Given the description of an element on the screen output the (x, y) to click on. 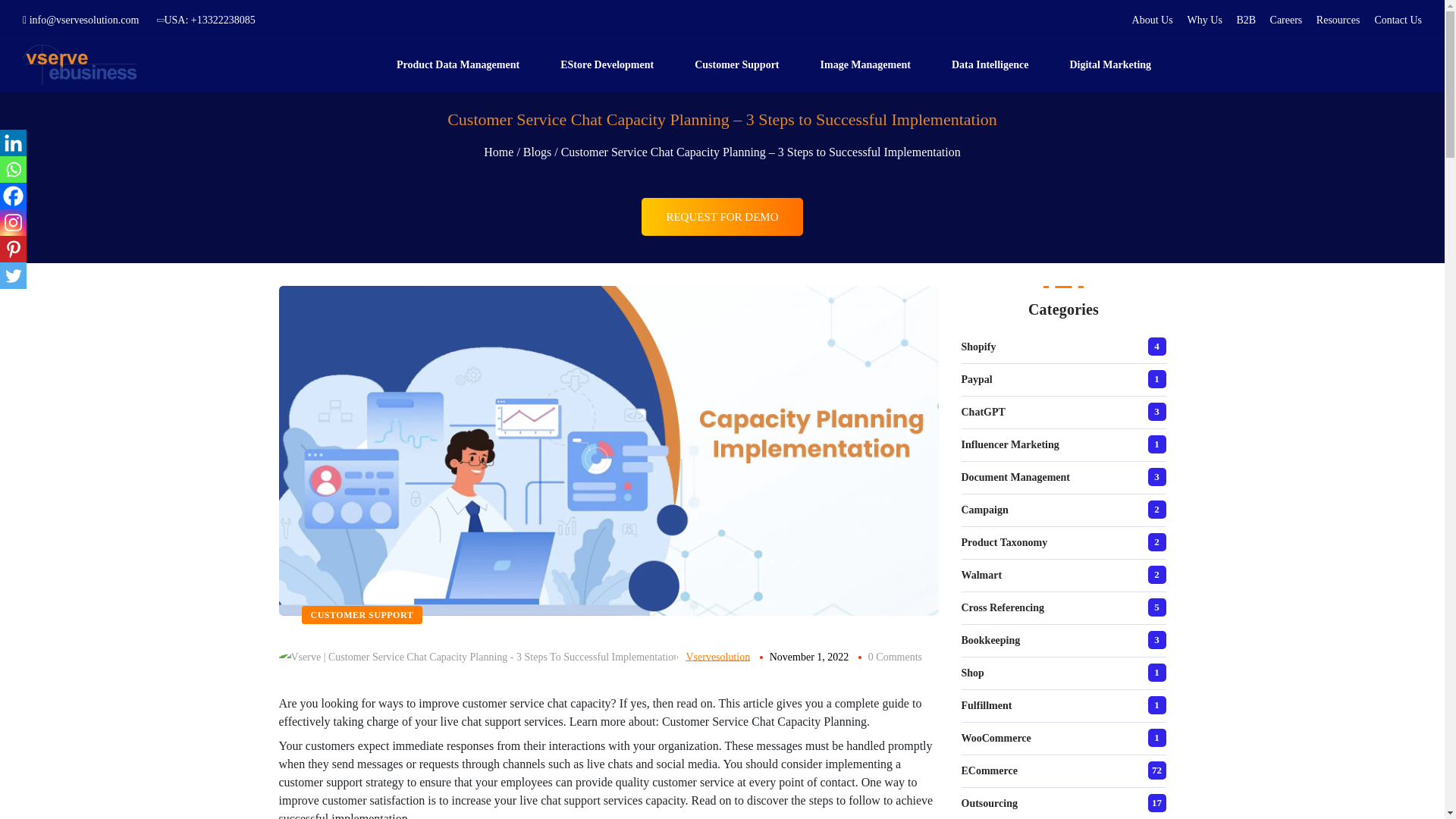
Resources (1337, 19)
Twitter (13, 275)
Careers (1286, 19)
Product Data Management (462, 64)
REQUEST FOR DEMO (722, 205)
Data Intelligence (995, 64)
Linkedin (13, 142)
Customer Support (742, 64)
Whatsapp (13, 169)
vserve (79, 64)
Facebook (13, 195)
Image Management (870, 64)
Instagram (13, 222)
About Us (1152, 19)
Why Us (1206, 19)
